Given the description of an element on the screen output the (x, y) to click on. 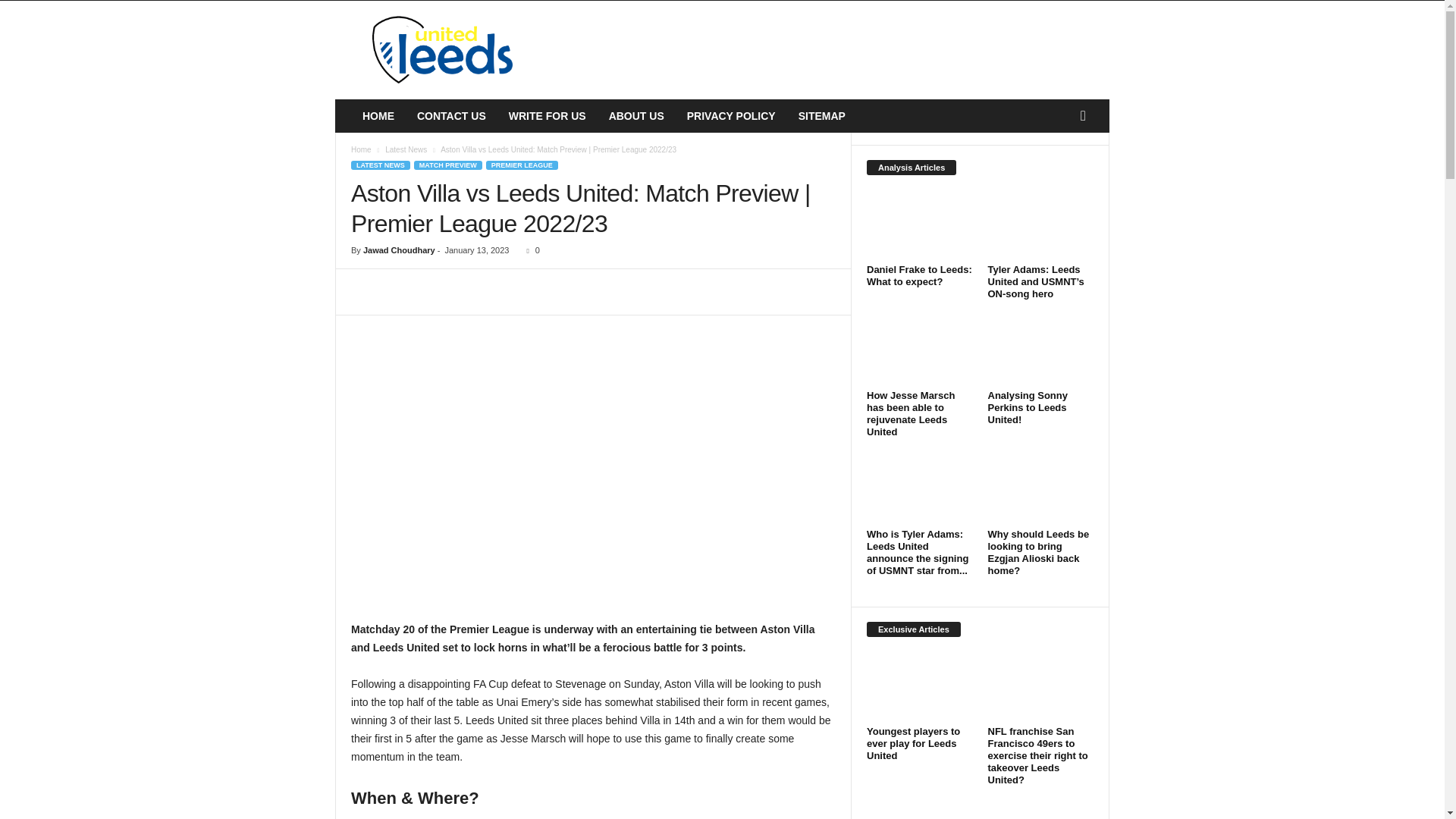
PRIVACY POLICY (731, 115)
0 (530, 249)
SITEMAP (822, 115)
LATEST NEWS (380, 164)
PREMIER LEAGUE (521, 164)
View all posts in Latest News (405, 149)
Jawad Choudhary (398, 249)
ABOUT US (635, 115)
United Leeds (437, 49)
HOME (378, 115)
